Given the description of an element on the screen output the (x, y) to click on. 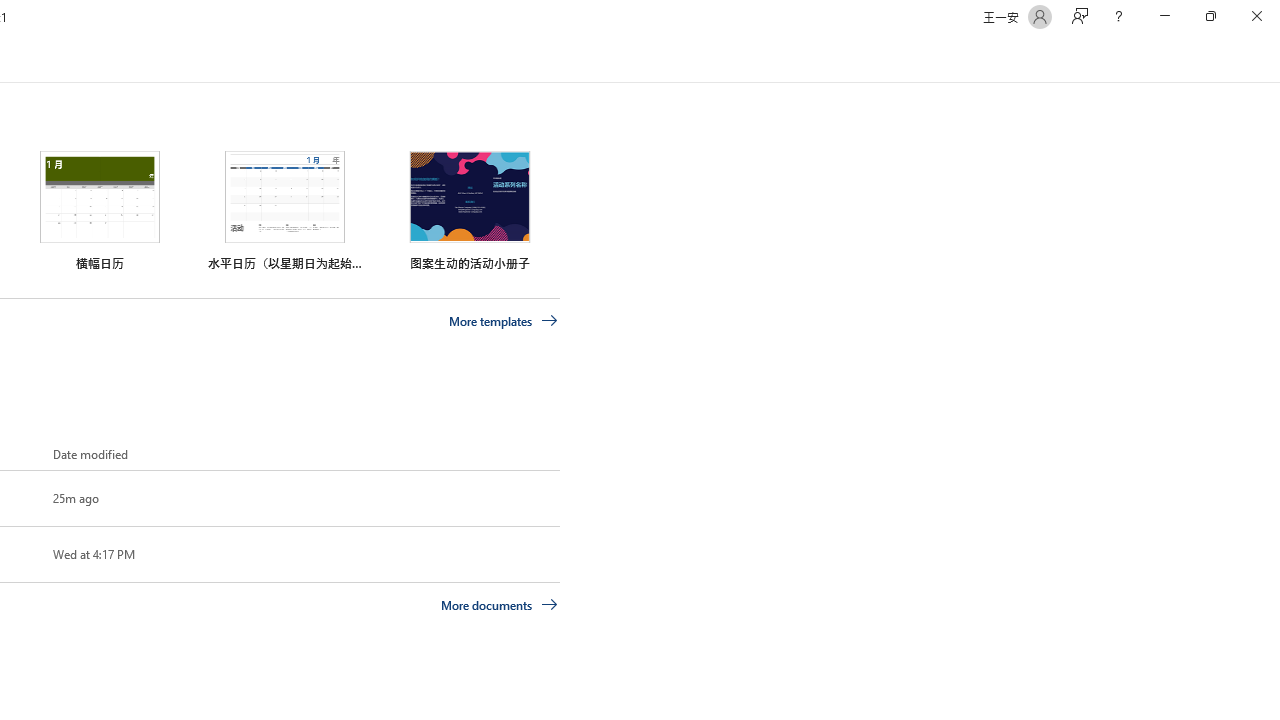
More documents (499, 604)
Class: NetUIScrollBar (1271, 59)
Close (1256, 16)
More templates (503, 321)
Restore Down (1210, 16)
Help (1118, 16)
Pin this item to the list (20, 553)
Minimize (1164, 16)
